Given the description of an element on the screen output the (x, y) to click on. 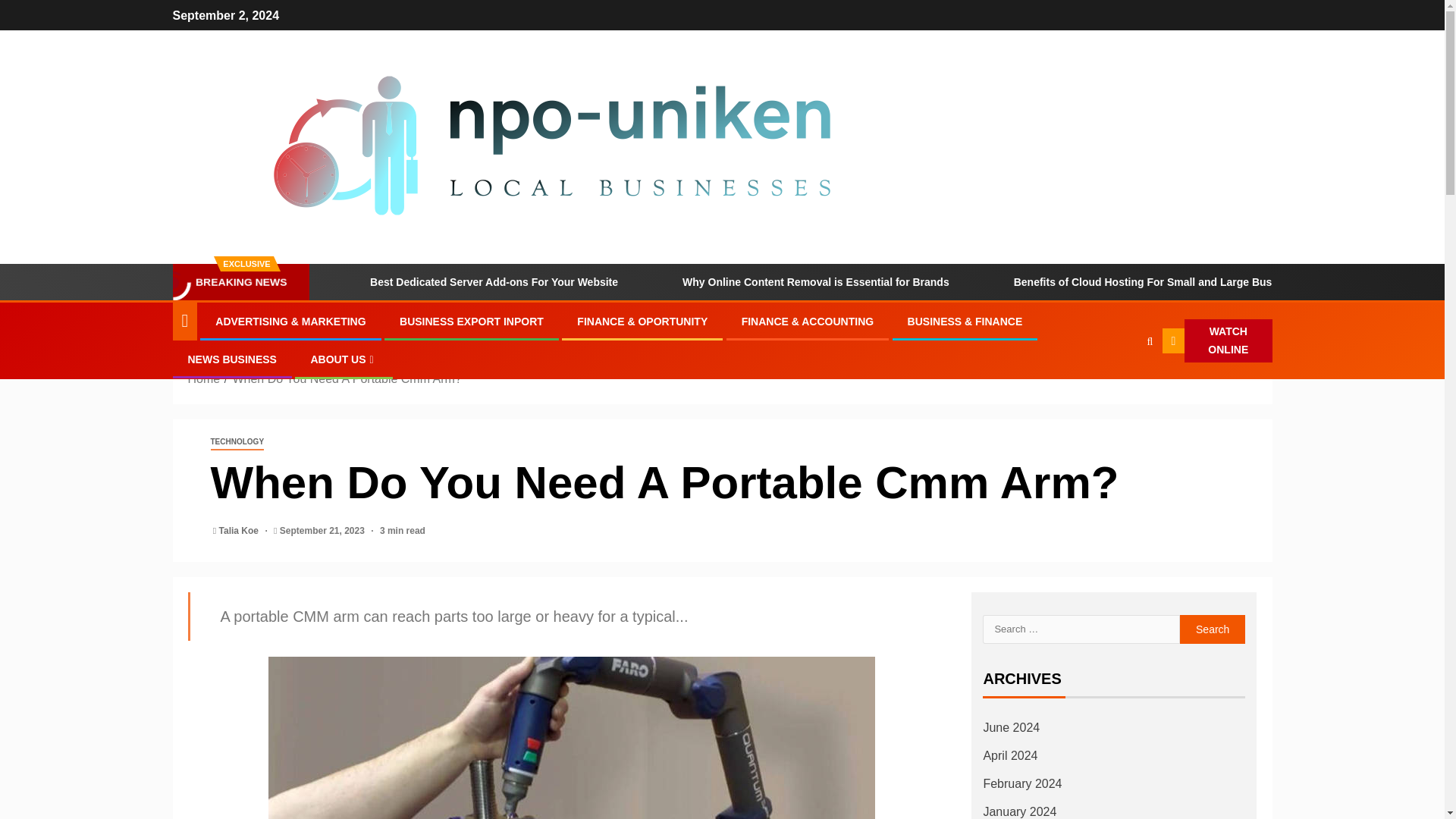
Search (1212, 629)
Why Online Content Removal is Essential for Brands (794, 281)
Search (1118, 386)
Search (1212, 629)
Best Dedicated Server Add-ons For Your Website (472, 281)
TECHNOLOGY (237, 442)
WATCH ONLINE (1216, 341)
Talia Koe (240, 530)
ABOUT US (343, 358)
When Do You Need A Portable Cmm Arm? (346, 378)
